Given the description of an element on the screen output the (x, y) to click on. 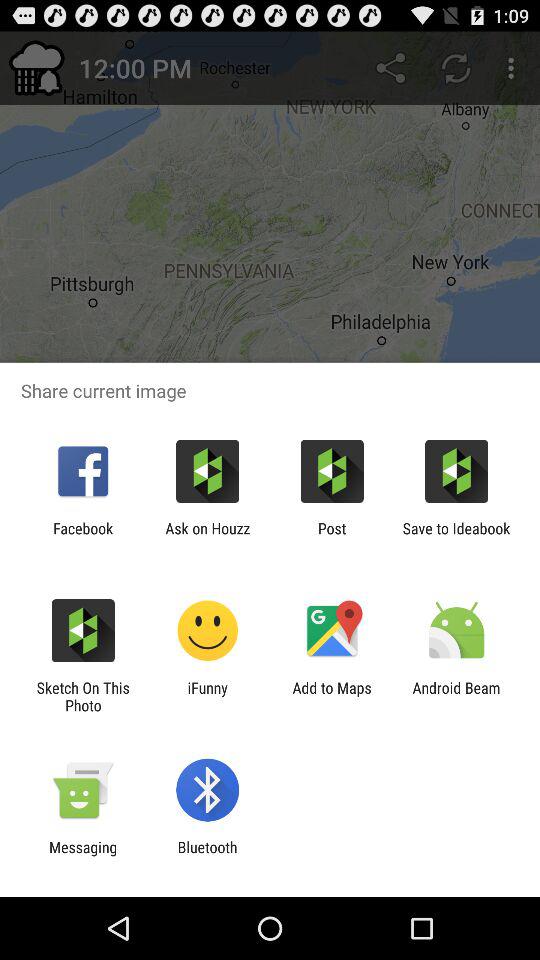
tap item to the right of sketch on this icon (207, 696)
